Given the description of an element on the screen output the (x, y) to click on. 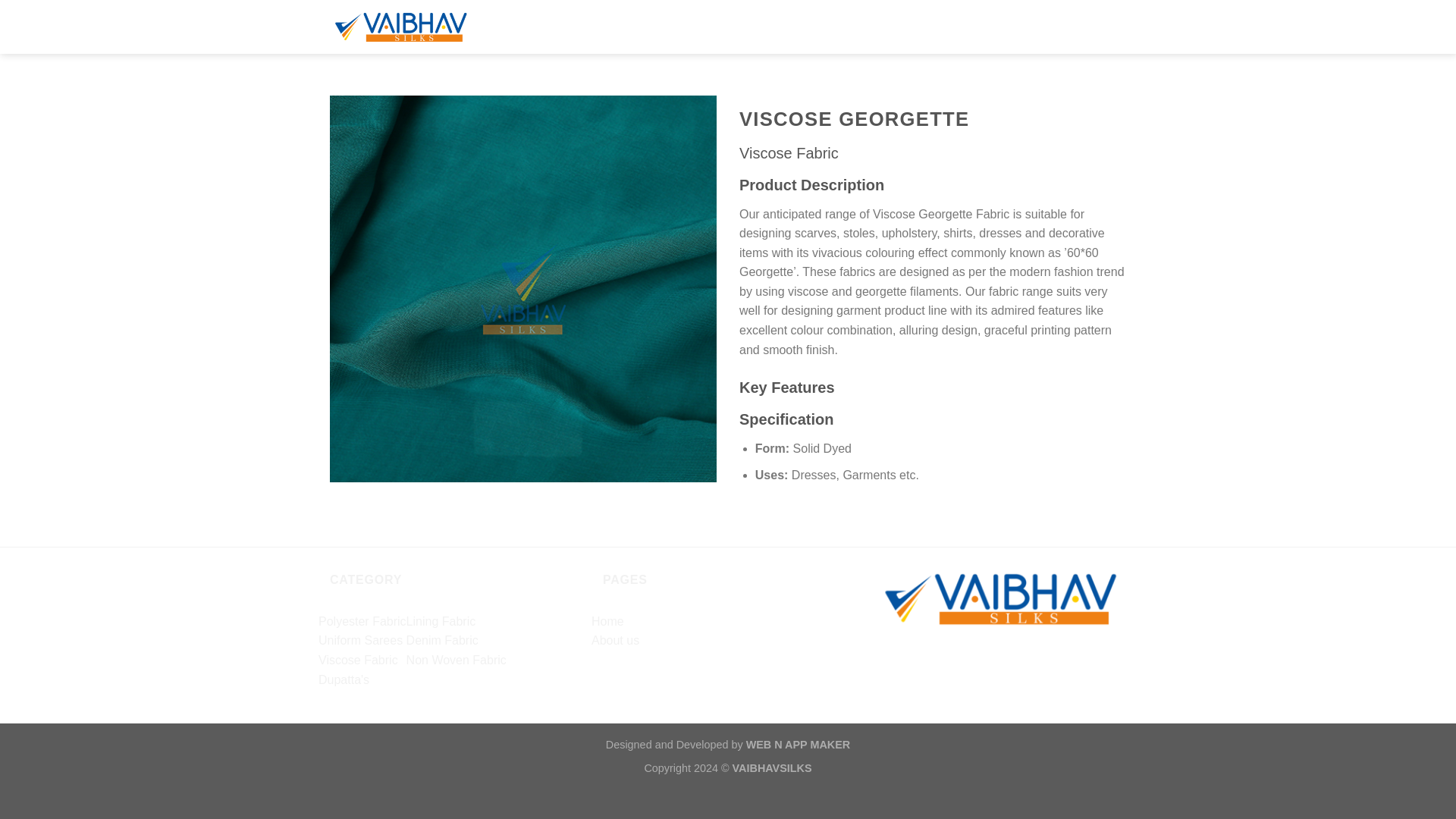
Denim Fabric (442, 640)
Home (607, 621)
Uniform Sarees (360, 640)
REQUEST A QUOTE (1071, 25)
Non Woven Fabric (456, 659)
PRODUCTS (879, 25)
Polyester Fabric (362, 621)
Vaibhav Silks (425, 27)
About us (615, 640)
Dupatta's (343, 679)
Viscose Fabric (357, 659)
CONTACT US (964, 25)
WEB N APP MAKER (797, 744)
Lining Fabric (441, 621)
ABOUT US (802, 25)
